Given the description of an element on the screen output the (x, y) to click on. 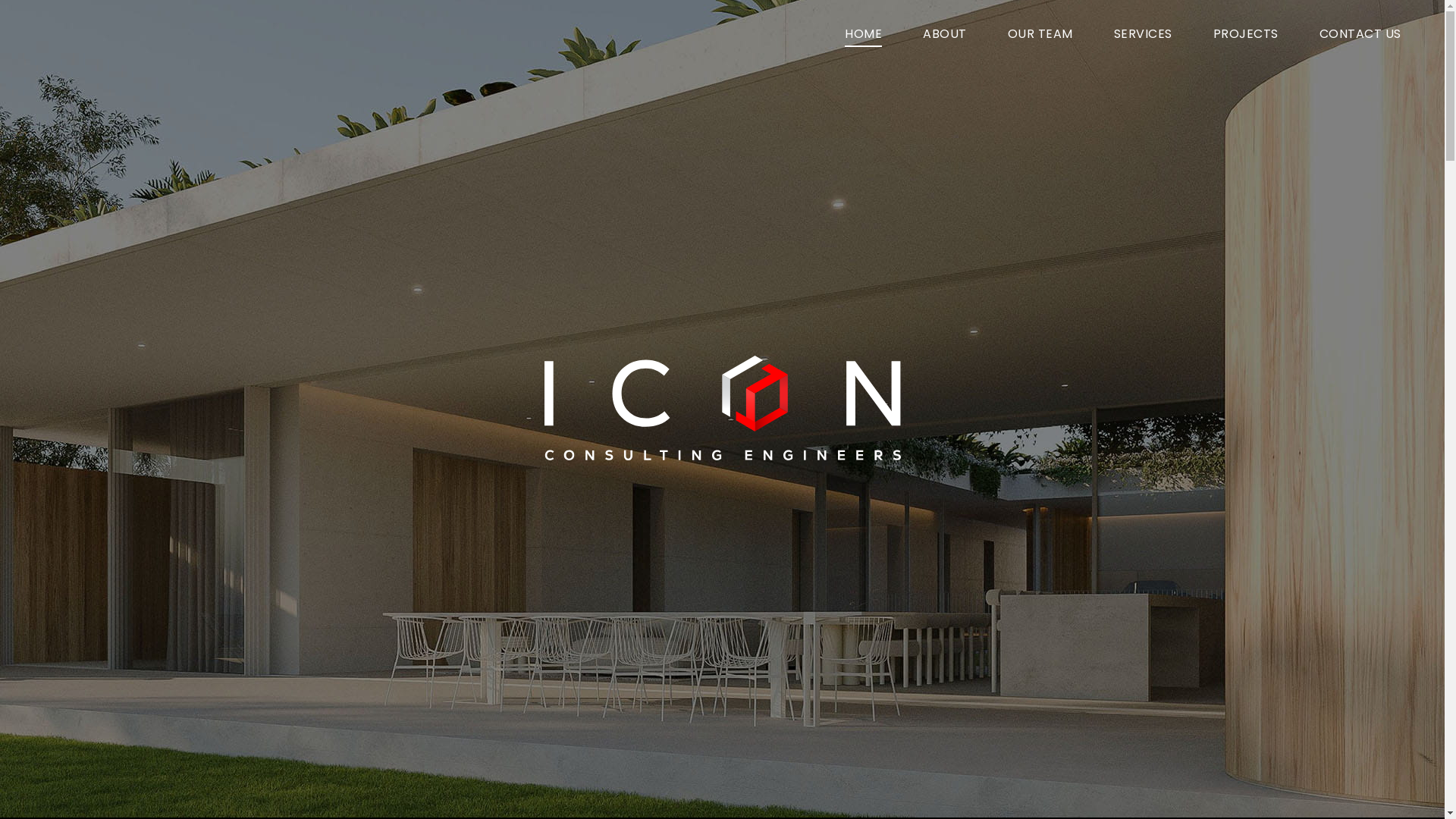
HOME Element type: text (862, 34)
OUR TEAM Element type: text (1040, 34)
PROJECTS Element type: text (1245, 34)
ABOUT Element type: text (944, 34)
SERVICES Element type: text (1142, 34)
CONTACT US Element type: text (1360, 34)
